Given the description of an element on the screen output the (x, y) to click on. 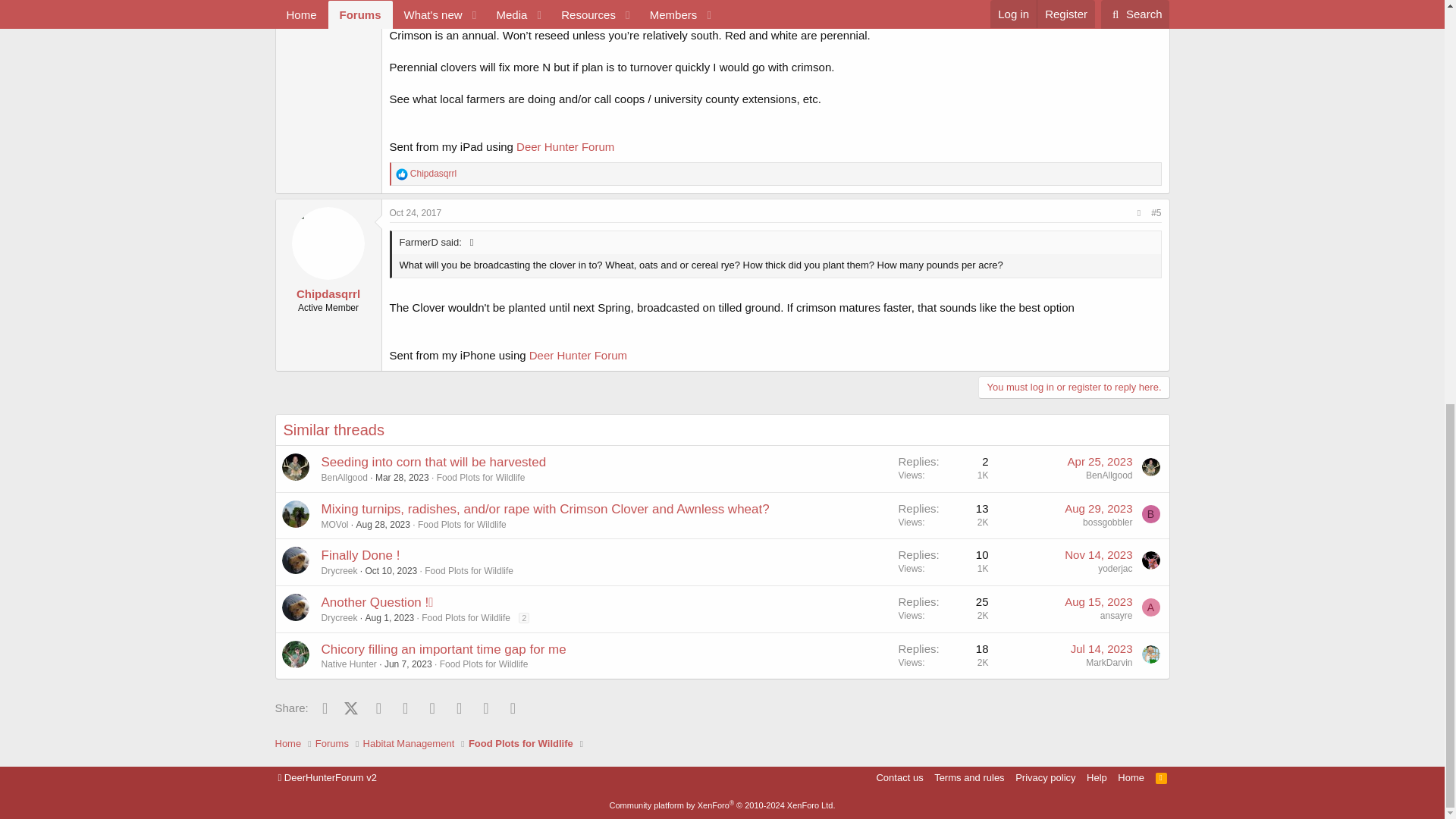
Mar 28, 2023 at 10:21 AM (402, 477)
First message reaction score: 5 (942, 561)
Oct 10, 2023 at 8:32 PM (391, 570)
Oct 24, 2017 at 10:29 PM (416, 213)
Nov 14, 2023 at 11:51 AM (1098, 554)
Like (401, 174)
Apr 25, 2023 at 3:45 PM (1099, 461)
First message reaction score: 0 (942, 468)
Aug 29, 2023 at 7:33 AM (1098, 508)
Aug 28, 2023 at 1:26 PM (383, 524)
First message reaction score: 0 (942, 515)
